Given the description of an element on the screen output the (x, y) to click on. 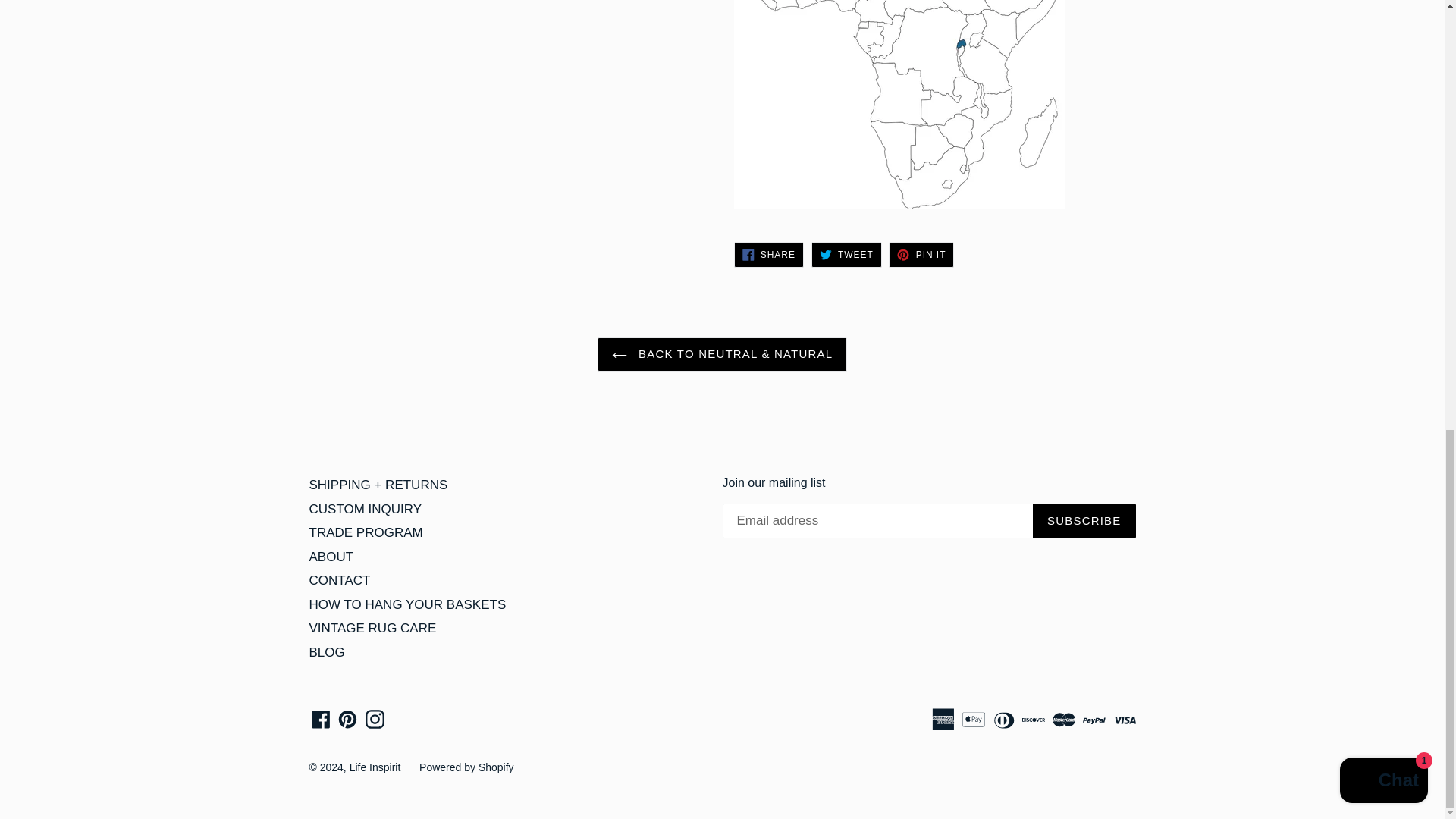
Tweet on Twitter (846, 254)
Pin on Pinterest (920, 254)
Life Inspirit on Facebook (320, 718)
Share on Facebook (768, 254)
Life Inspirit on Pinterest (347, 718)
Life Inspirit on Instagram (374, 718)
